Given the description of an element on the screen output the (x, y) to click on. 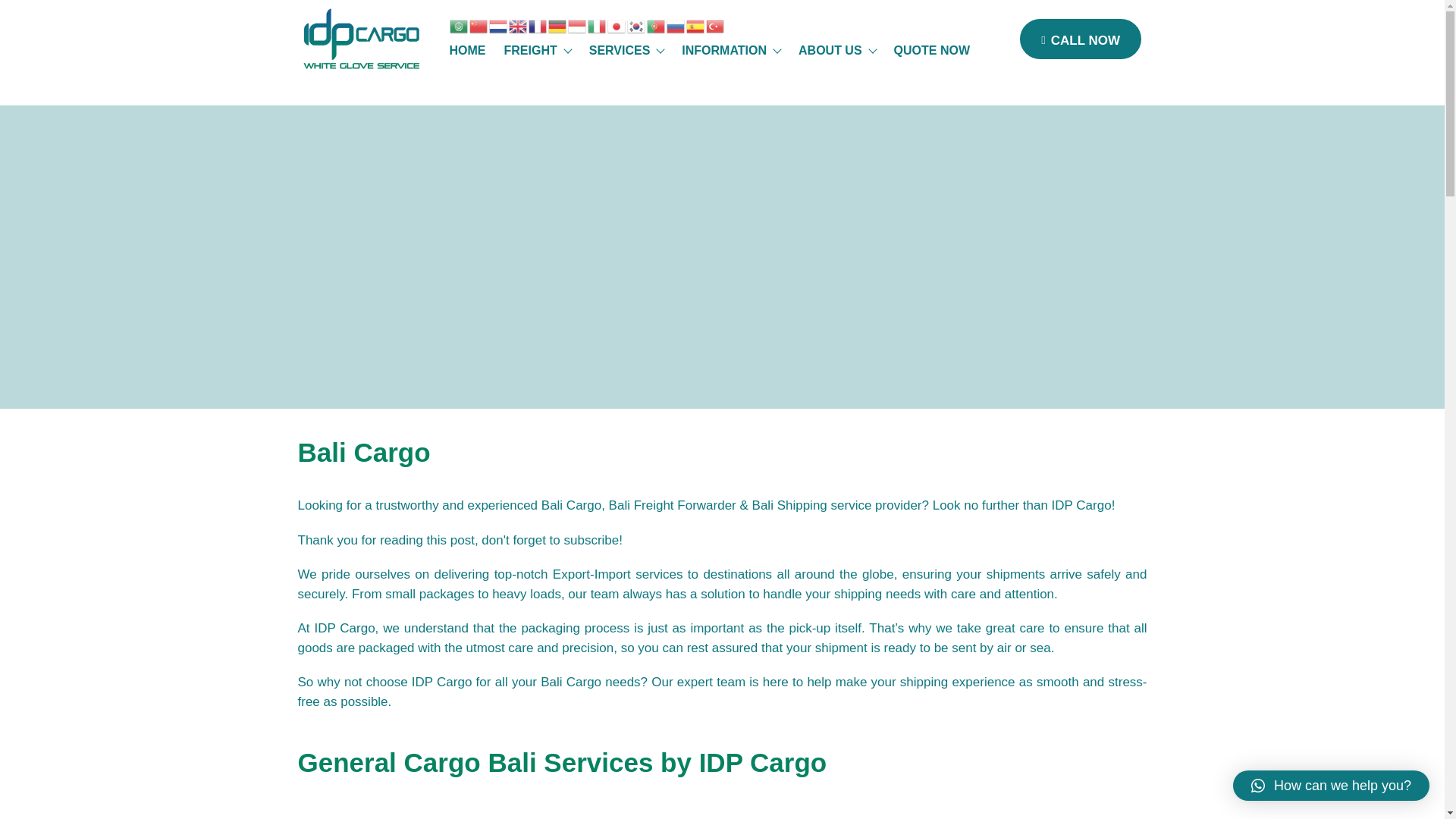
FREIGHT (537, 51)
Deutsch (557, 24)
Nederlands (497, 24)
HOME (467, 51)
English (517, 24)
SERVICES (625, 51)
ABOUT US (837, 51)
Italiano (596, 24)
INFORMATION (730, 51)
Bahasa Indonesia (576, 24)
